Given the description of an element on the screen output the (x, y) to click on. 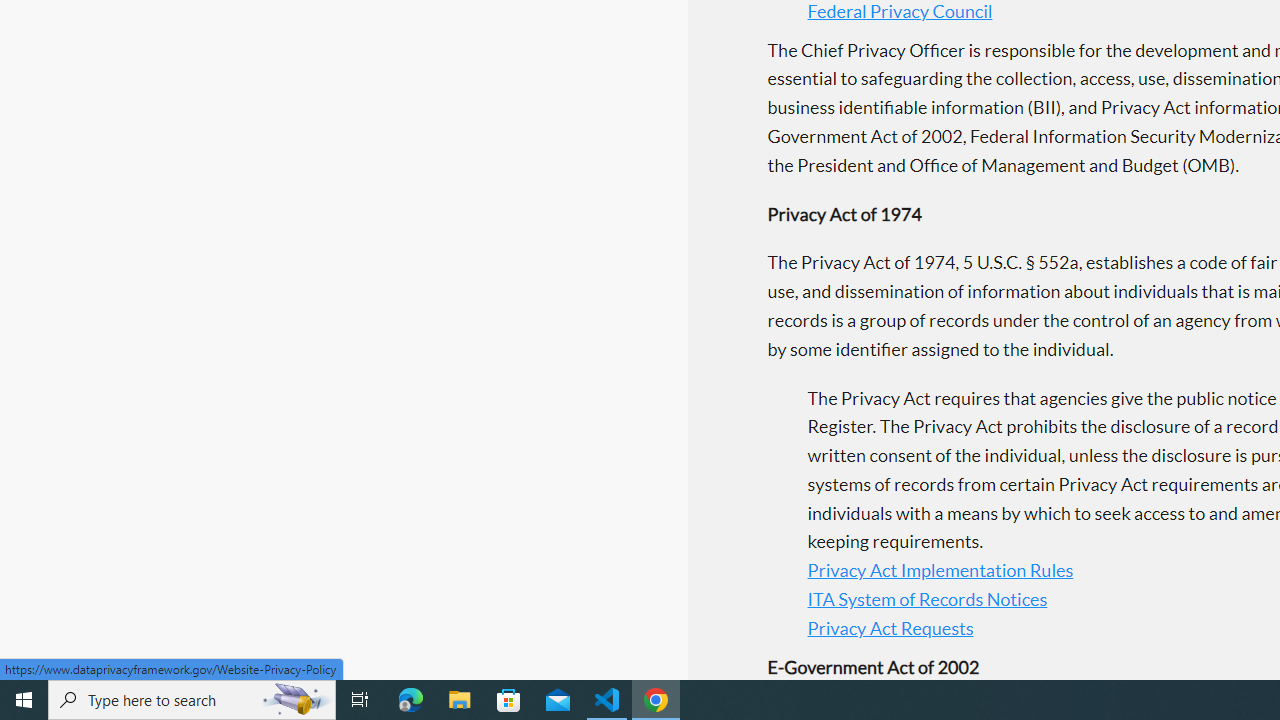
Privacy Act Requests (890, 627)
ITA System of Records Notices (927, 599)
Privacy Act Implementation Rules (939, 569)
